Given the description of an element on the screen output the (x, y) to click on. 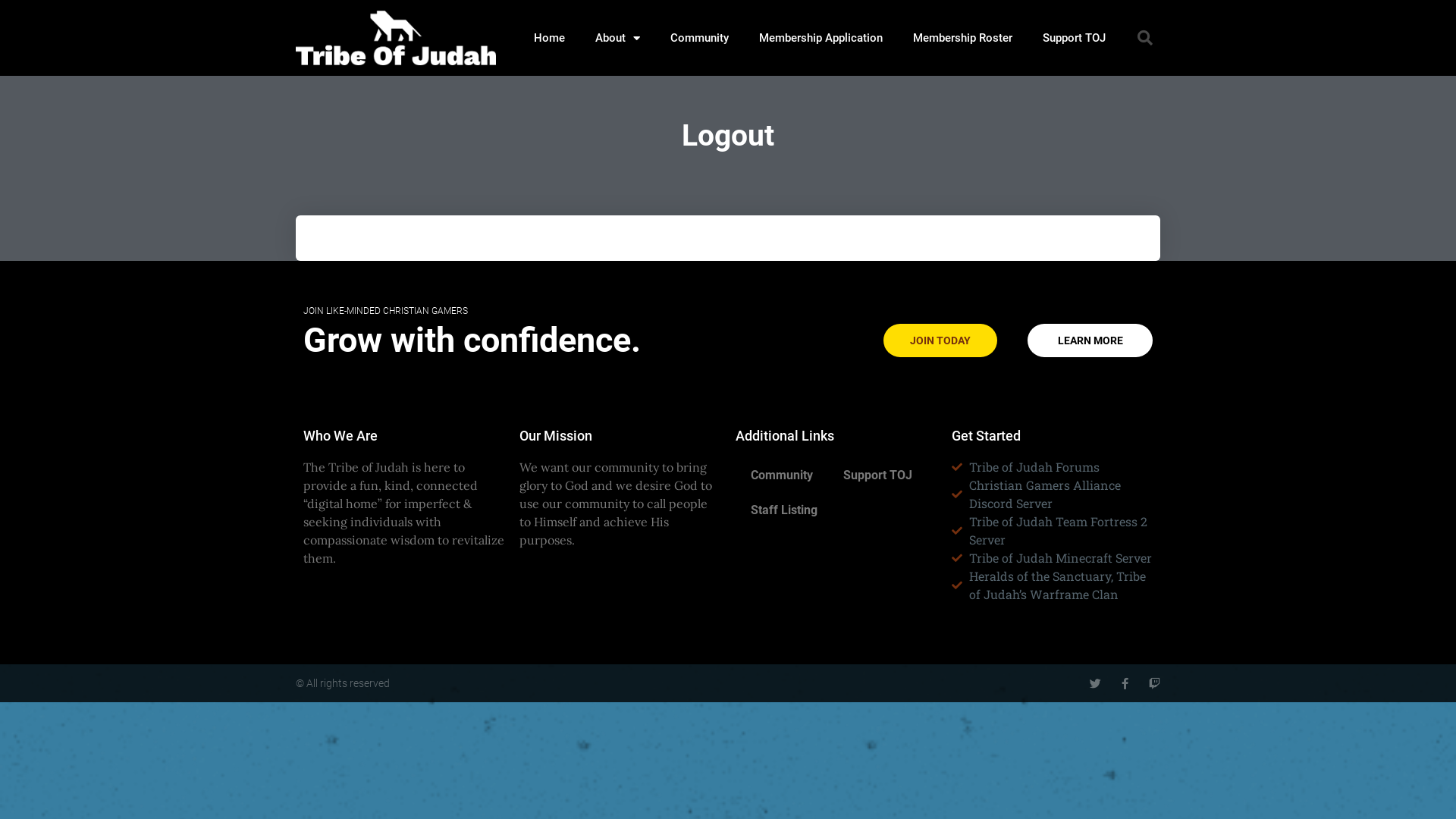
Staff Listing Element type: text (783, 509)
Support TOJ Element type: text (877, 475)
Tribe of Judah Forums Element type: text (1051, 467)
Membership Roster Element type: text (962, 37)
Christian Gamers Alliance Discord Server Element type: text (1051, 494)
About Element type: text (617, 37)
Home Element type: text (549, 37)
Tribe of Judah Team Fortress 2 Server Element type: text (1051, 530)
LEARN MORE Element type: text (1089, 340)
Membership Application Element type: text (820, 37)
Tribe of Judah Minecraft Server Element type: text (1051, 558)
Community Element type: text (699, 37)
Community Element type: text (781, 475)
Support TOJ Element type: text (1073, 37)
JOIN TODAY Element type: text (940, 340)
